Given the description of an element on the screen output the (x, y) to click on. 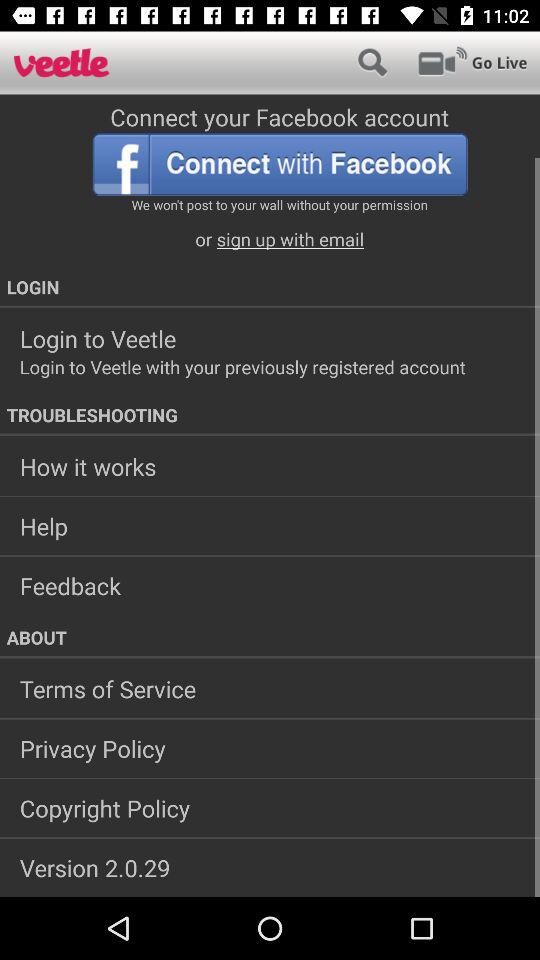
go live (472, 62)
